Given the description of an element on the screen output the (x, y) to click on. 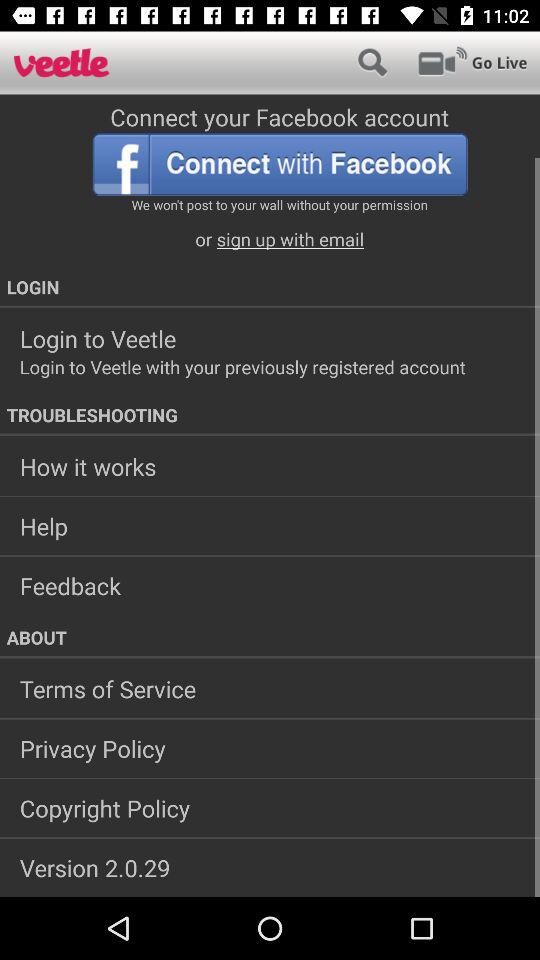
go live (472, 62)
